Given the description of an element on the screen output the (x, y) to click on. 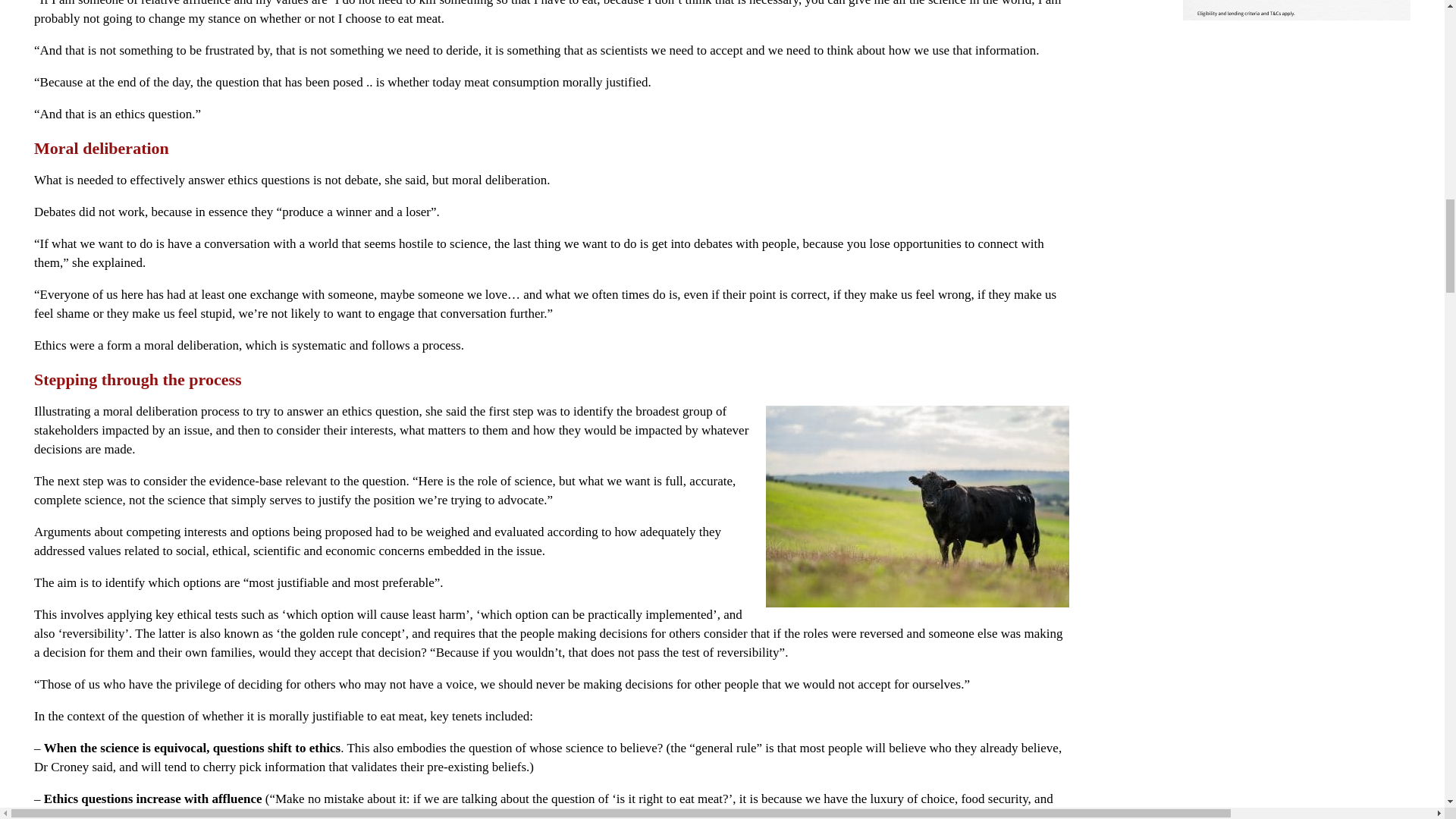
3rd party ad content (1296, 334)
3rd party ad content (1296, 539)
3rd party ad content (1296, 10)
3rd party ad content (1296, 130)
